Given the description of an element on the screen output the (x, y) to click on. 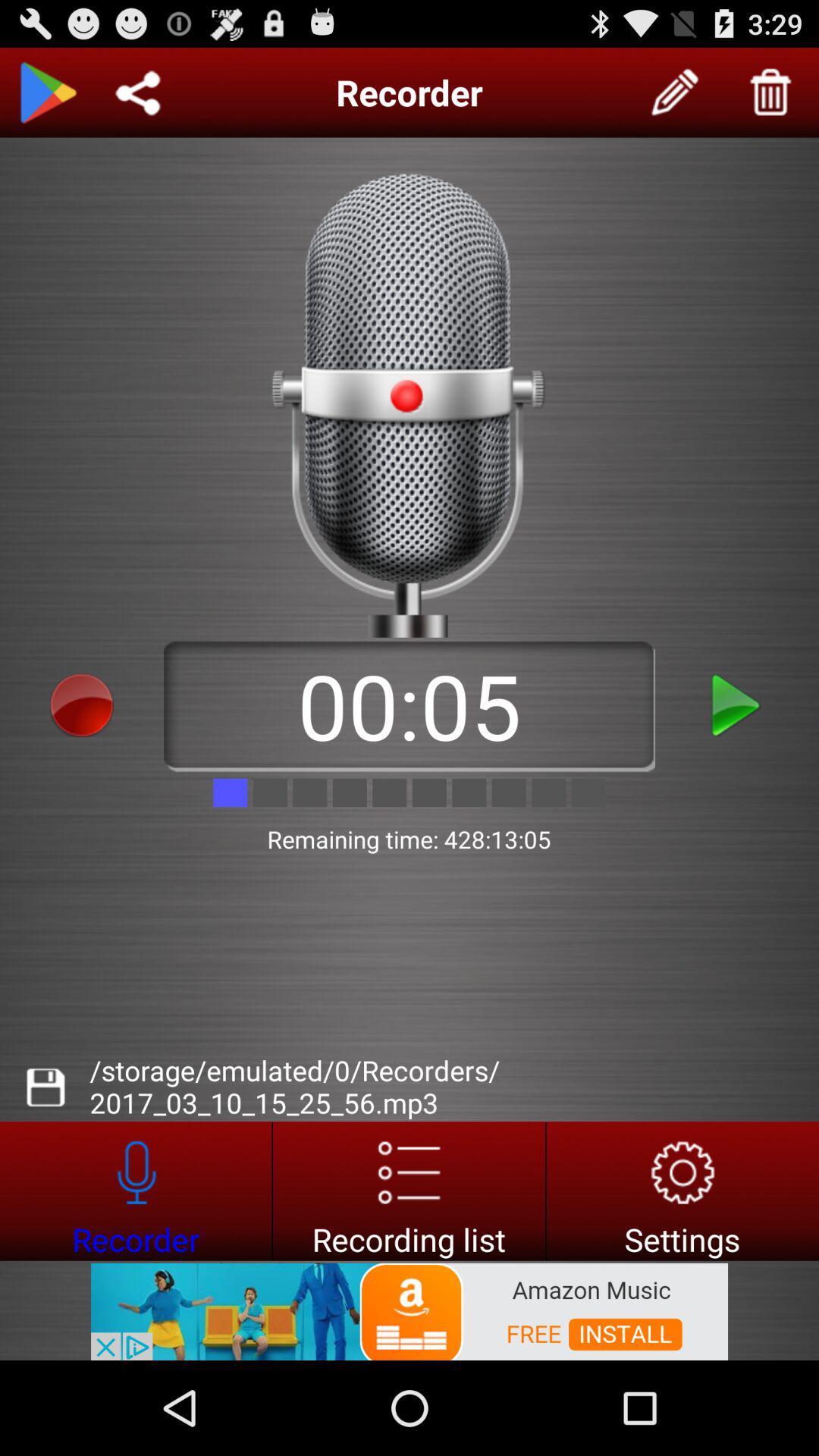
go to google play store (47, 92)
